Given the description of an element on the screen output the (x, y) to click on. 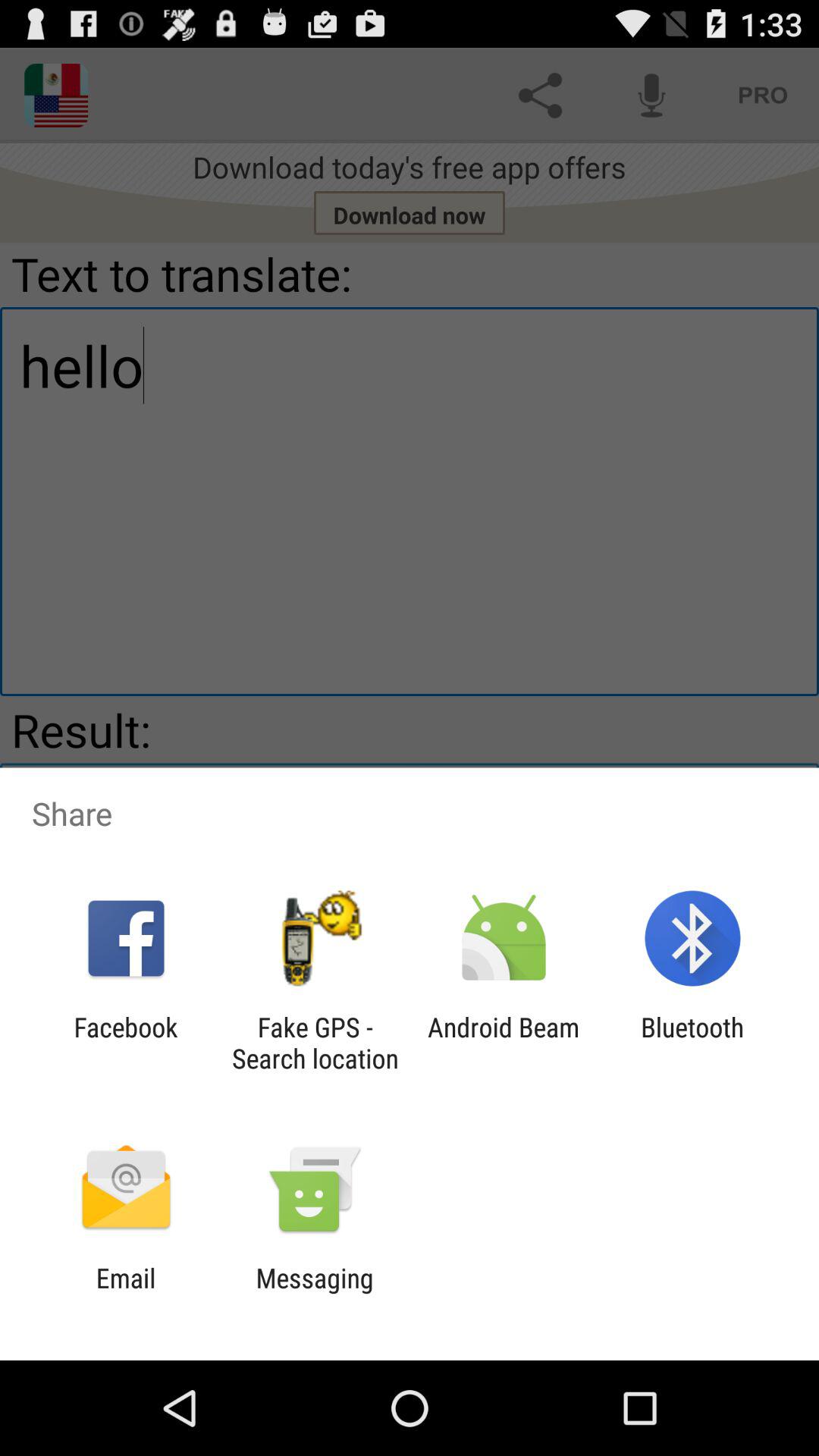
select icon next to the android beam icon (314, 1042)
